Given the description of an element on the screen output the (x, y) to click on. 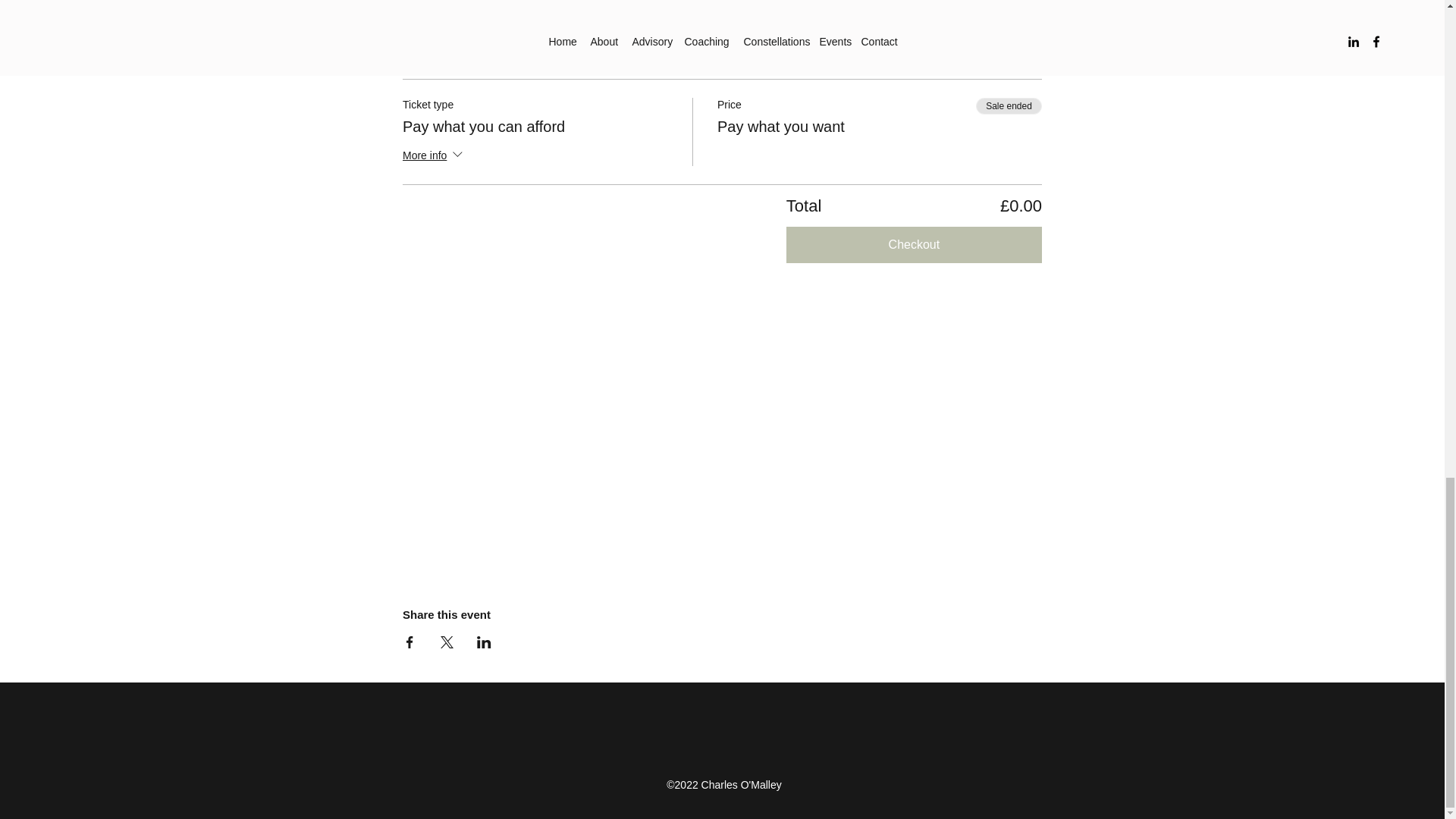
Checkout (914, 244)
More info (434, 156)
More info (434, 50)
